Given the description of an element on the screen output the (x, y) to click on. 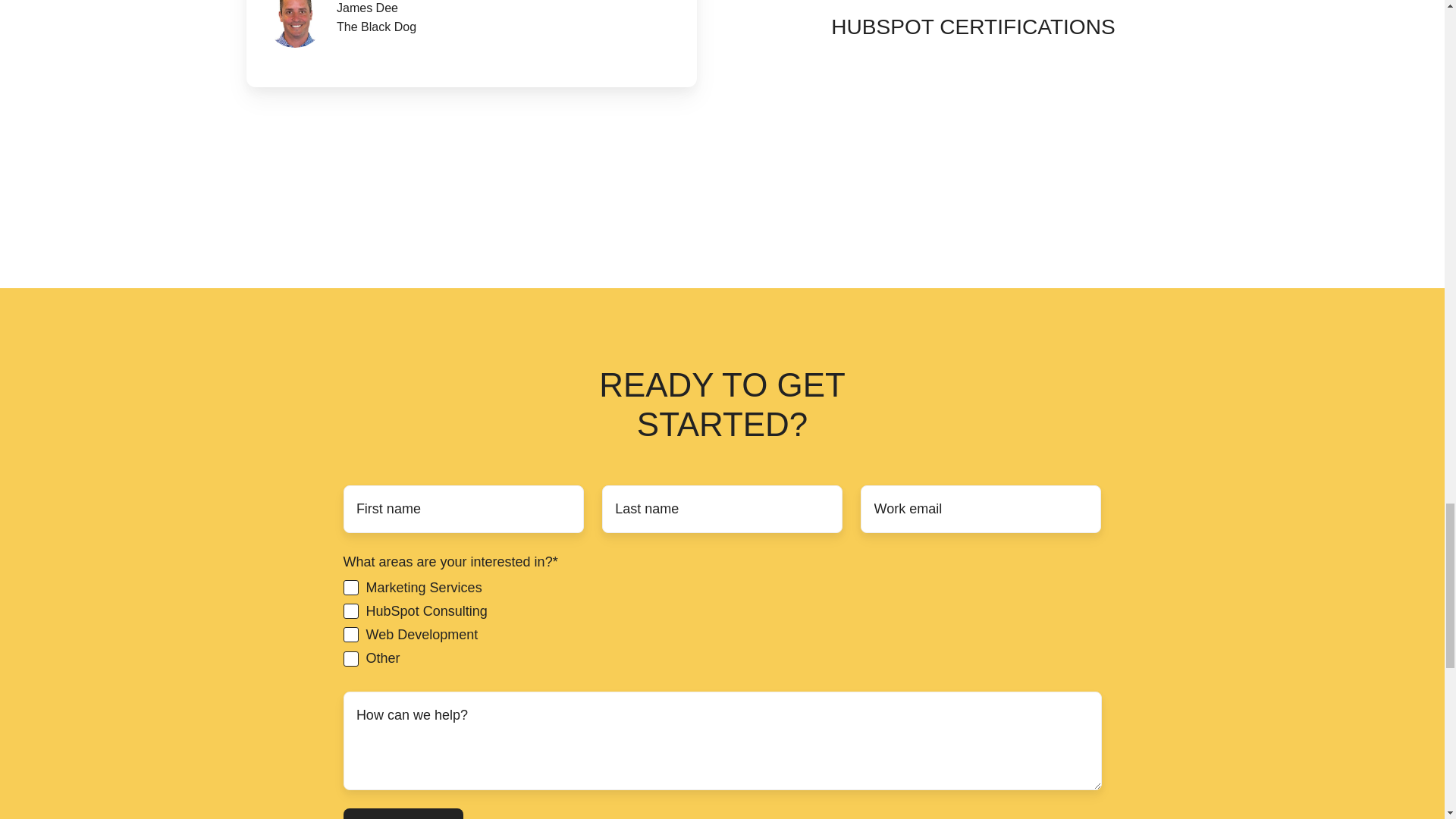
Other (350, 658)
Let's Do This! (402, 813)
Web Development (350, 634)
Let's Do This! (402, 813)
Marketing Services (350, 587)
HubSpot Consulting (350, 611)
